Given the description of an element on the screen output the (x, y) to click on. 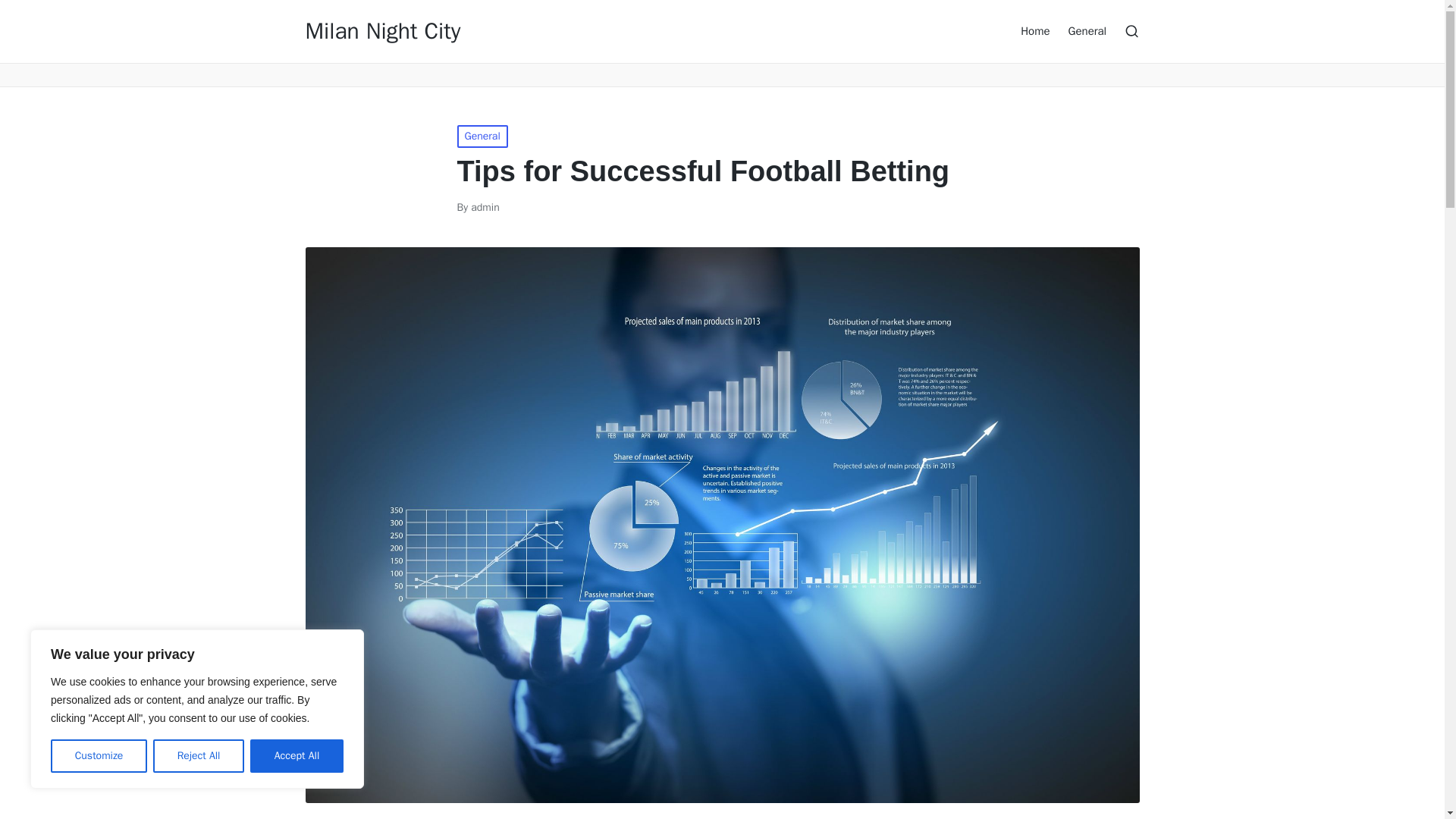
admin (484, 206)
Accept All (296, 756)
General (1087, 30)
Reject All (198, 756)
Milan Night City (382, 31)
Customize (98, 756)
View all posts by  (484, 206)
General (481, 136)
Home (1034, 30)
